Given the description of an element on the screen output the (x, y) to click on. 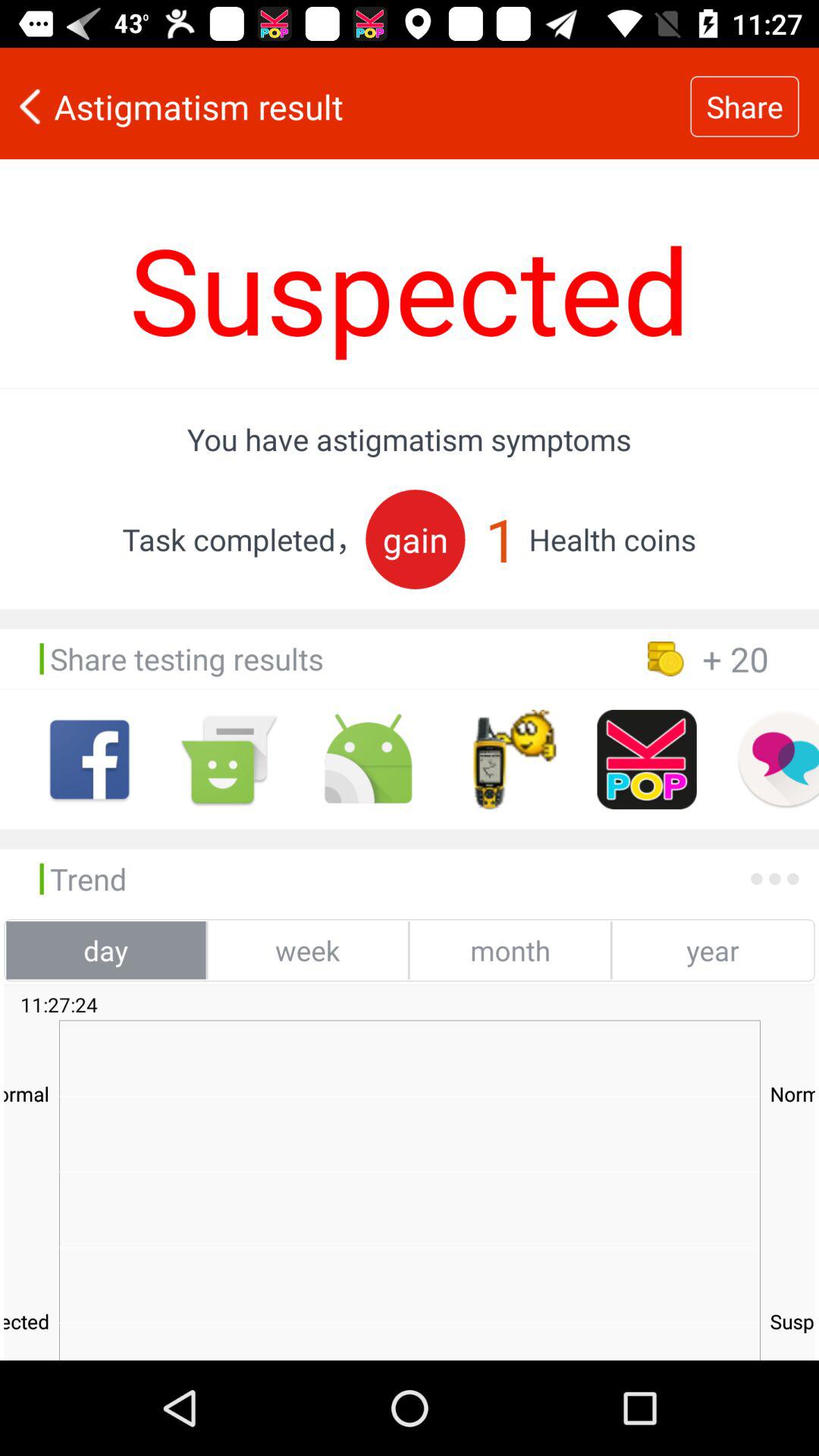
select gain item (415, 539)
